Given the description of an element on the screen output the (x, y) to click on. 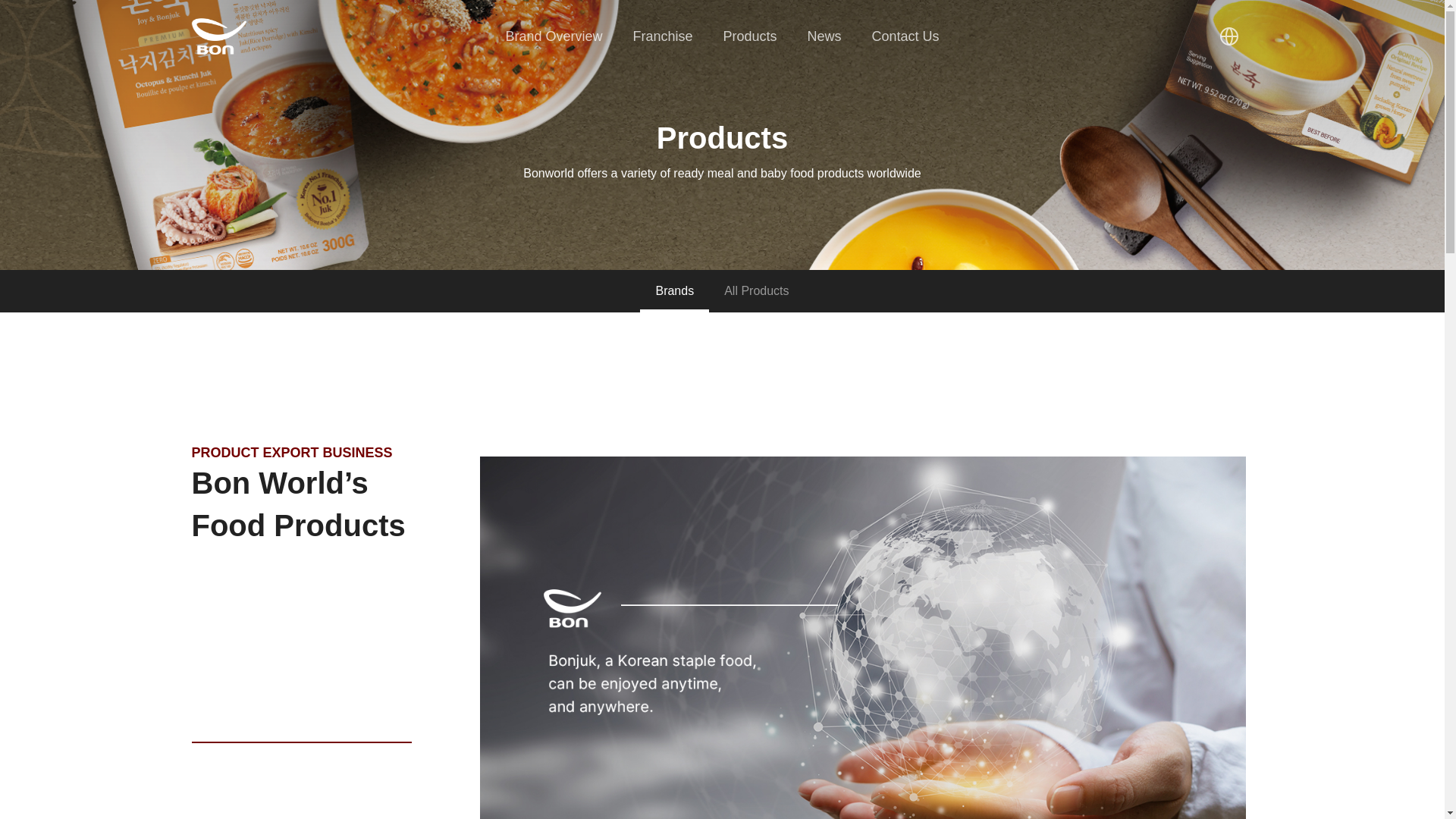
Contact Us (905, 36)
Brand Overview (553, 36)
Brands (674, 291)
News (824, 36)
All Products (756, 291)
Products (749, 36)
Franchise (662, 36)
Language (1228, 36)
